Given the description of an element on the screen output the (x, y) to click on. 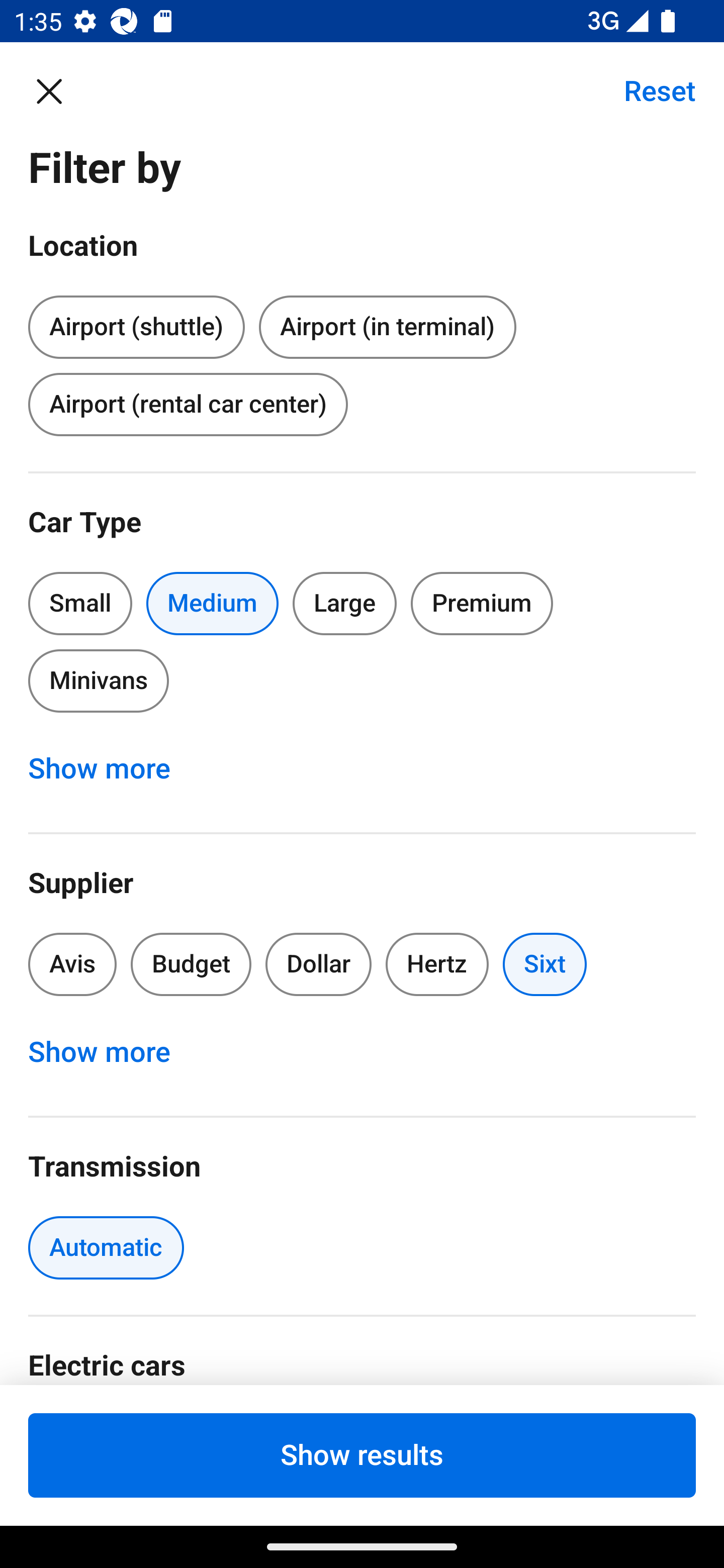
Close (59, 90)
Reset (649, 90)
Airport (shuttle) (136, 323)
Airport (in terminal) (387, 327)
Airport (rental car center) (187, 404)
Small (80, 603)
Large (344, 603)
Premium (482, 603)
Minivans (98, 680)
Show more (109, 767)
Avis (72, 963)
Budget (191, 963)
Dollar (318, 963)
Hertz (437, 963)
Show more (109, 1051)
Show results (361, 1454)
